Given the description of an element on the screen output the (x, y) to click on. 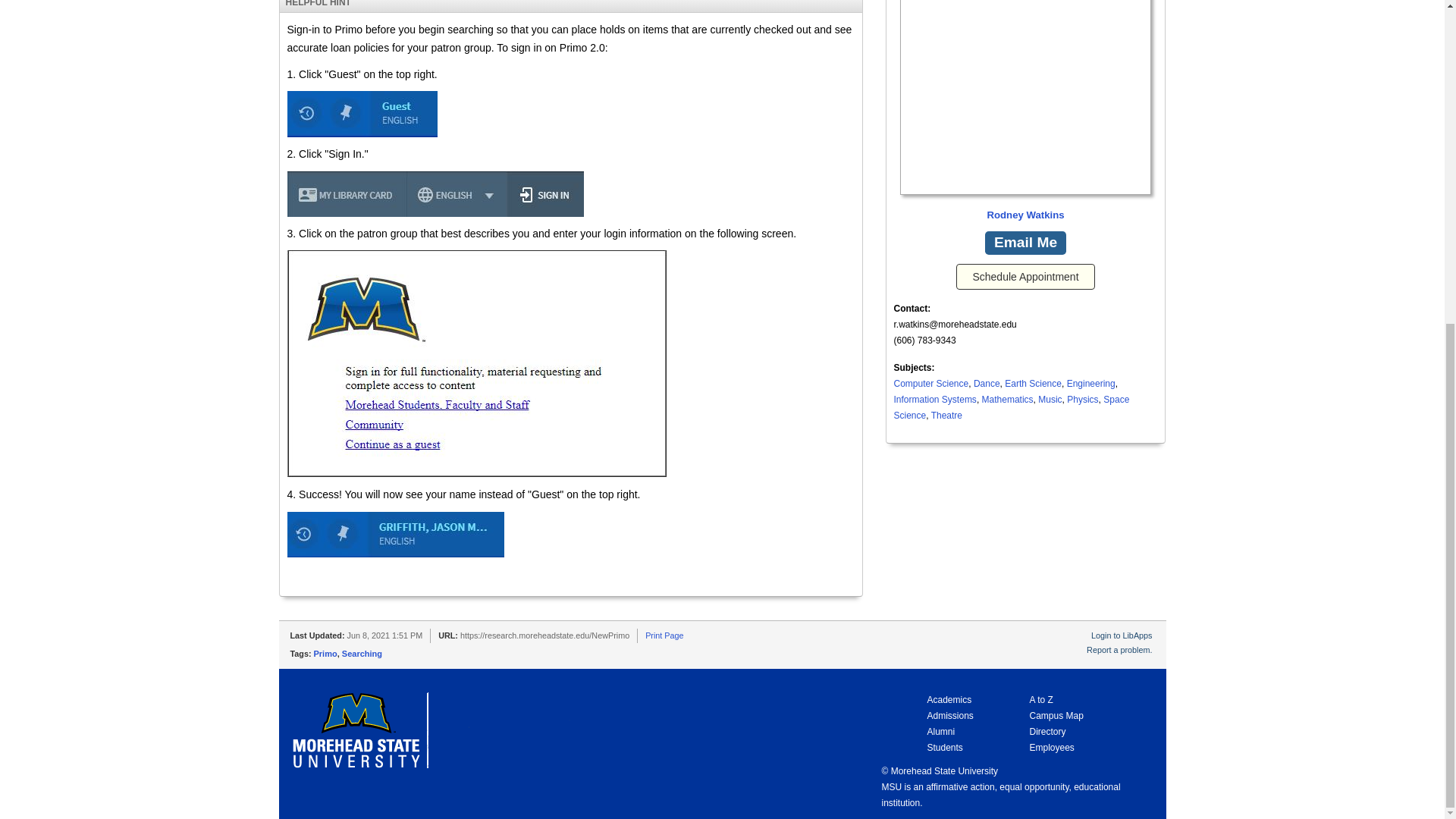
Space Science (1011, 406)
Earth Science (1032, 383)
Mathematics (1007, 398)
Information Systems (934, 398)
Theatre (946, 415)
Computer Science (930, 383)
Alumni (917, 731)
Searching (361, 653)
Students (921, 747)
Directory (1047, 731)
Email Me (1025, 242)
A to Z (1040, 699)
Campus Map (1056, 715)
Admissions (926, 715)
Dance (987, 383)
